Given the description of an element on the screen output the (x, y) to click on. 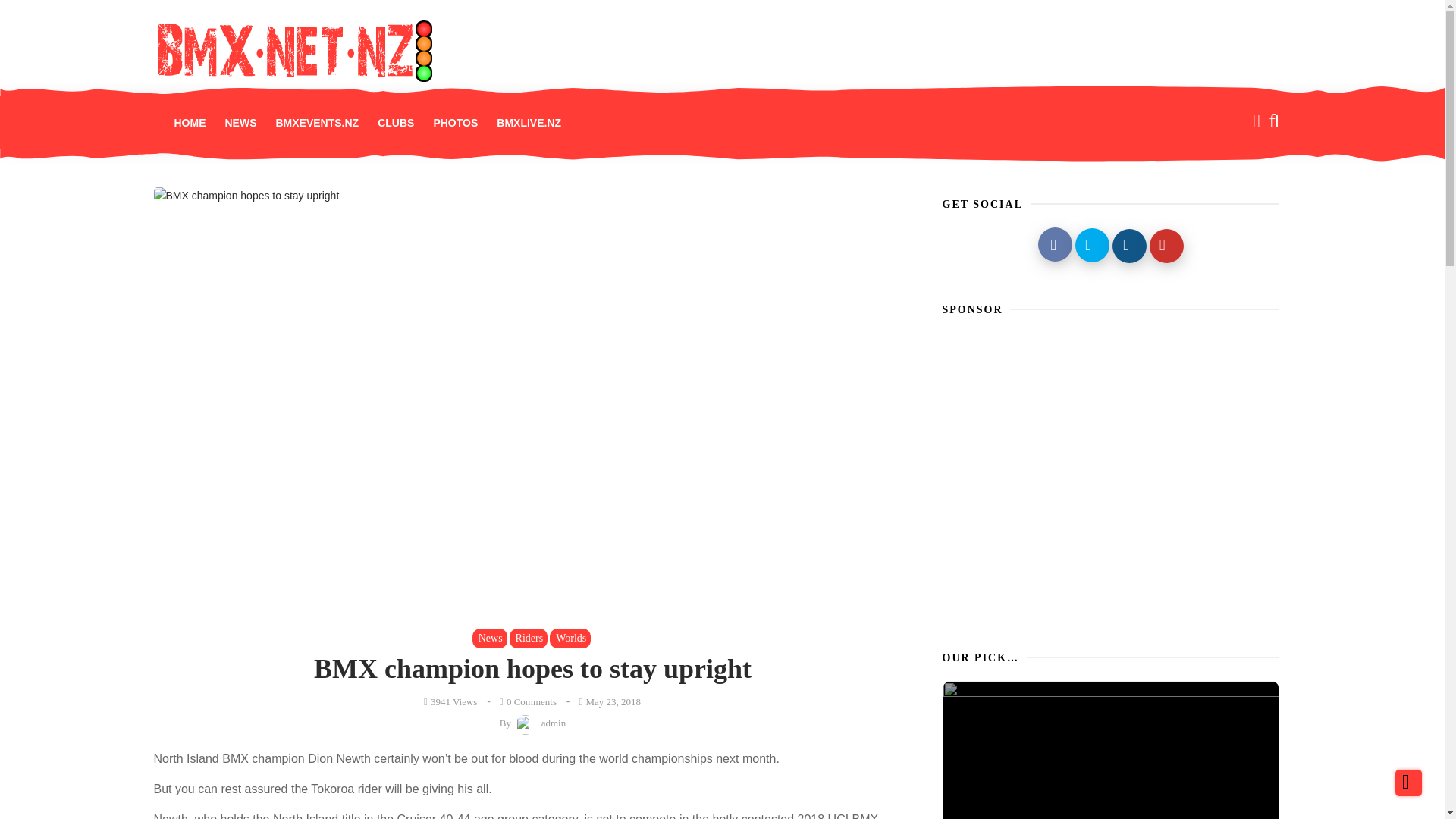
Home (190, 122)
News (488, 638)
Riders (528, 638)
3941 Views (449, 701)
HOME (190, 122)
BMXEvents.NZ (317, 122)
PHOTOS (454, 122)
Photos (454, 122)
0 Comments (526, 701)
May 23, 2018 (608, 701)
News (239, 122)
BMXEVENTS.NZ (317, 122)
Worlds (570, 638)
By  admin (532, 722)
Clubs (395, 122)
